Given the description of an element on the screen output the (x, y) to click on. 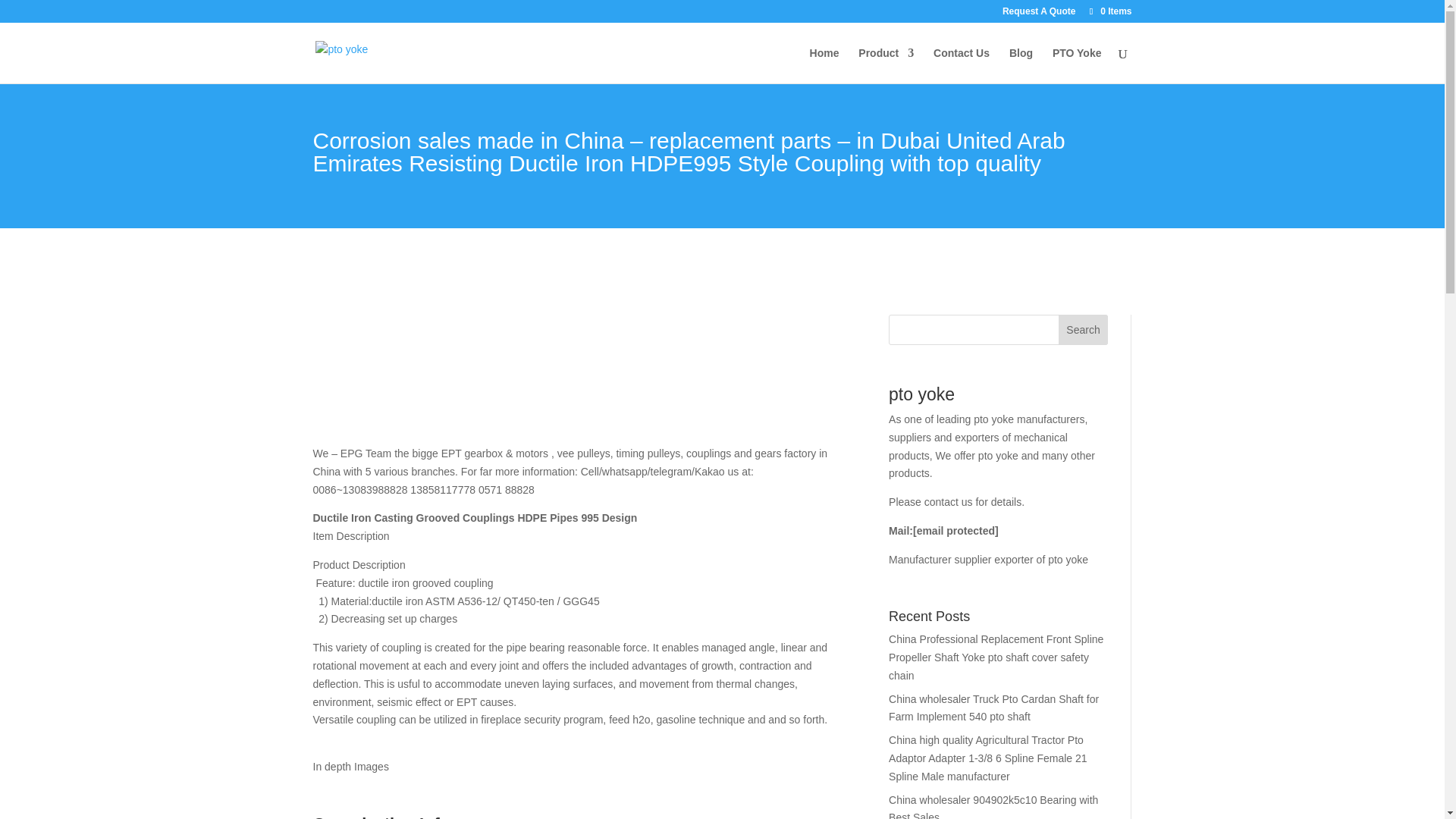
Search (1083, 329)
PTO Yoke (1077, 65)
Search (1083, 329)
Contact Us (961, 65)
0 Items (1108, 10)
China wholesaler 904902k5c10 Bearing with Best Sales (992, 806)
Request A Quote (1039, 14)
Product (886, 65)
